Given the description of an element on the screen output the (x, y) to click on. 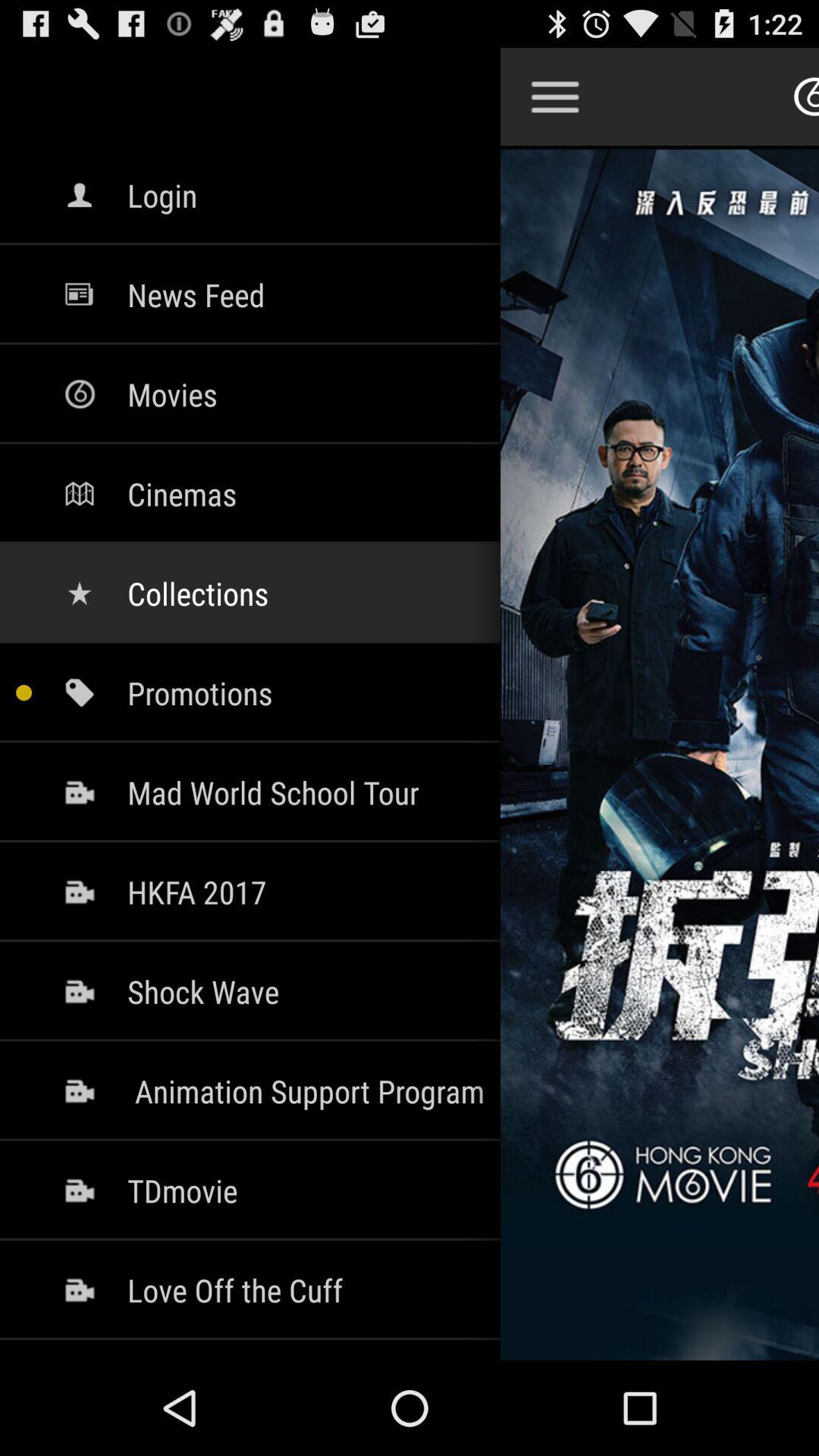
select the icon which is beside promotions (79, 693)
go to the icon which is left to the tdmovie (79, 1190)
select the icon which is left to the  movies (79, 394)
select the icon which is beside the love off the cuff (79, 1290)
tap the icon which is left to the animation support program (79, 1090)
